Given the description of an element on the screen output the (x, y) to click on. 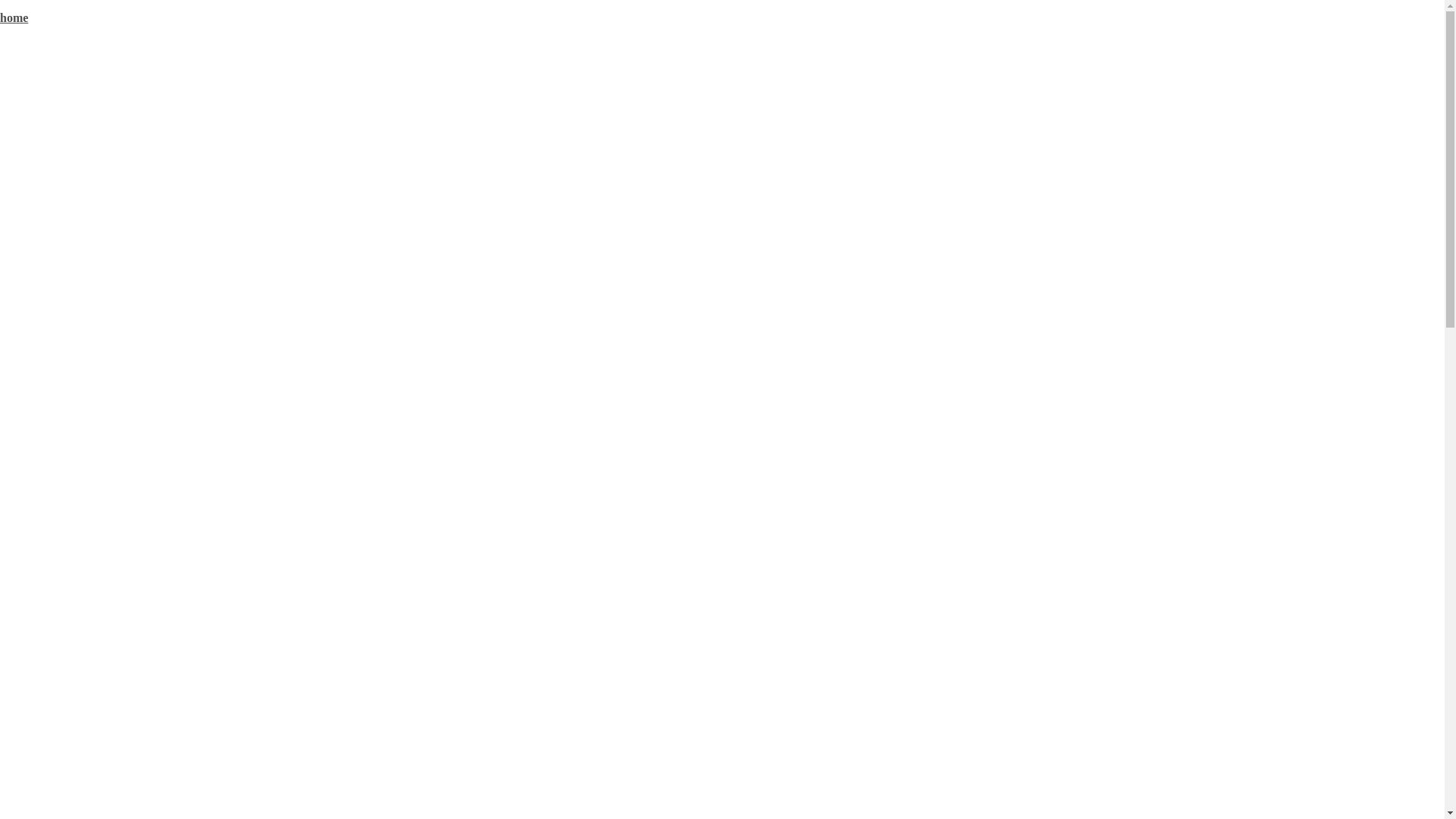
home Element type: text (14, 17)
